Given the description of an element on the screen output the (x, y) to click on. 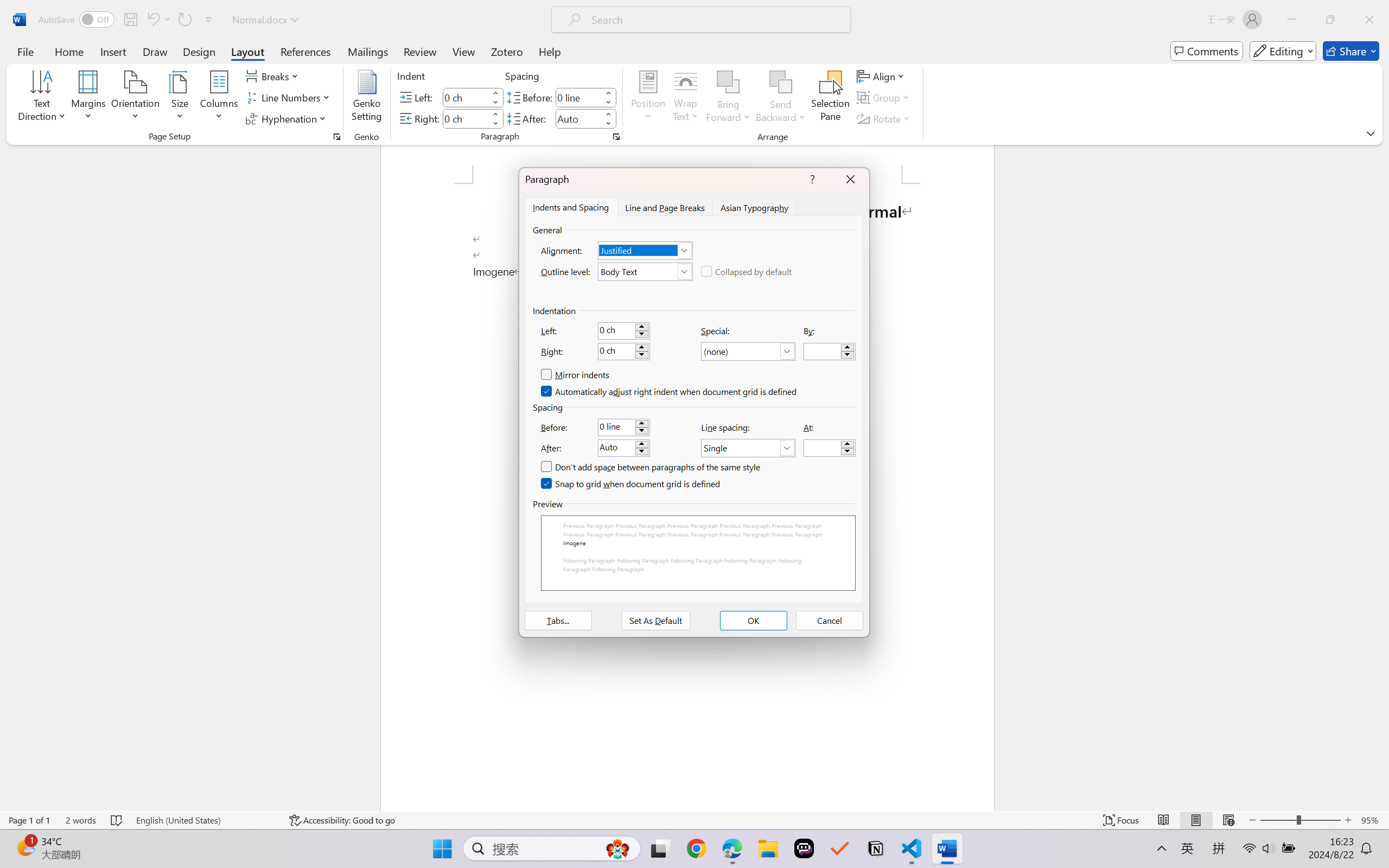
Spacing After (578, 118)
Microsoft search (715, 19)
Class: MsoCommandBar (694, 819)
Asian Typography (754, 206)
Google Chrome (696, 848)
Spacing Before (578, 96)
